Given the description of an element on the screen output the (x, y) to click on. 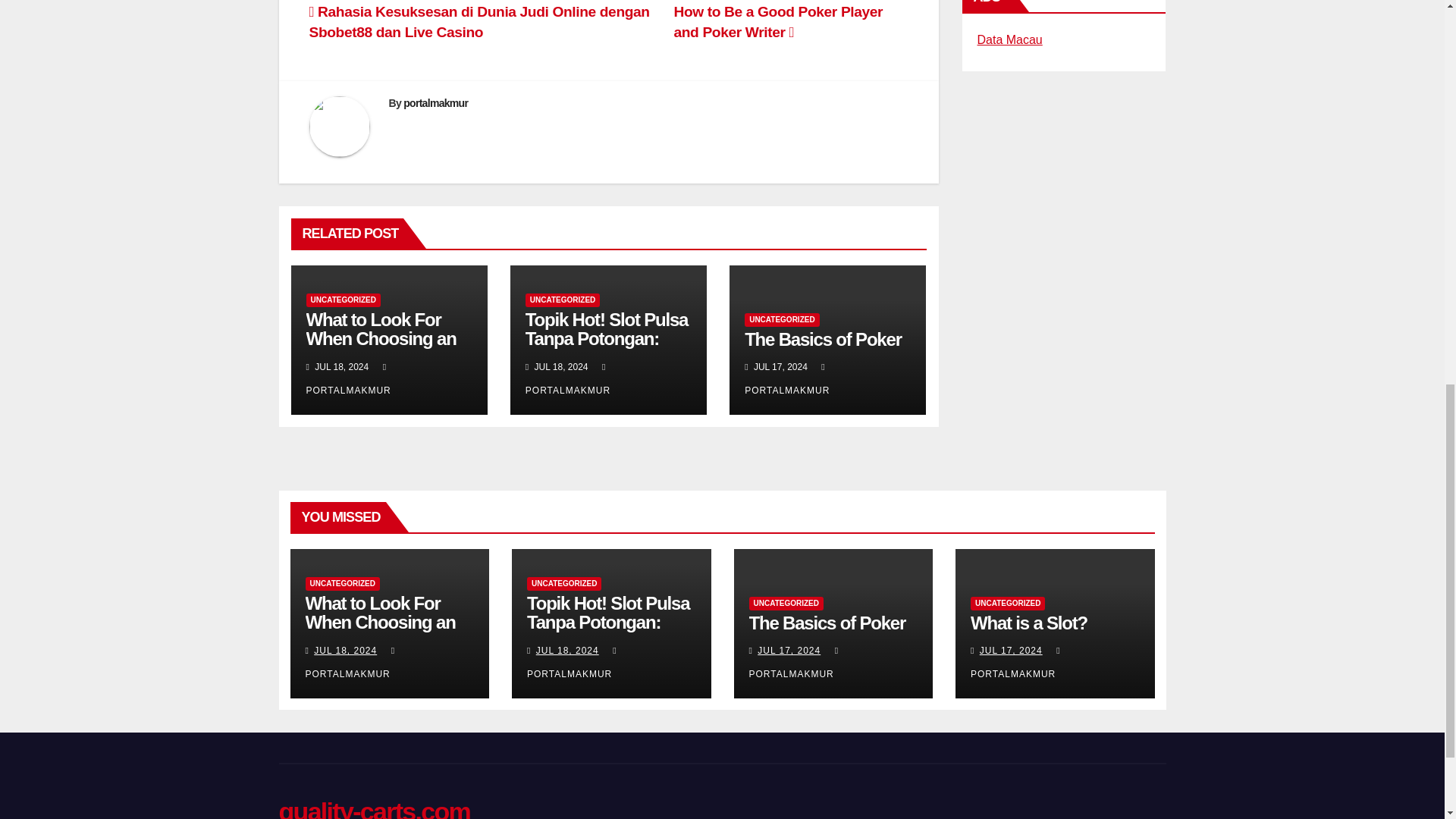
Permalink to: What to Look For When Choosing an Online Slot (381, 338)
How to Be a Good Poker Player and Poker Writer (777, 22)
UNCATEGORIZED (781, 319)
Permalink to: What to Look For When Choosing an Online Slot (379, 621)
Permalink to: The Basics of Poker (827, 622)
portalmakmur (435, 102)
The Basics of Poker (822, 339)
UNCATEGORIZED (562, 300)
Data Macau (1009, 39)
PORTALMAKMUR (348, 378)
Permalink to: What is a Slot? (1029, 622)
Permalink to: The Basics of Poker (822, 339)
